Given the description of an element on the screen output the (x, y) to click on. 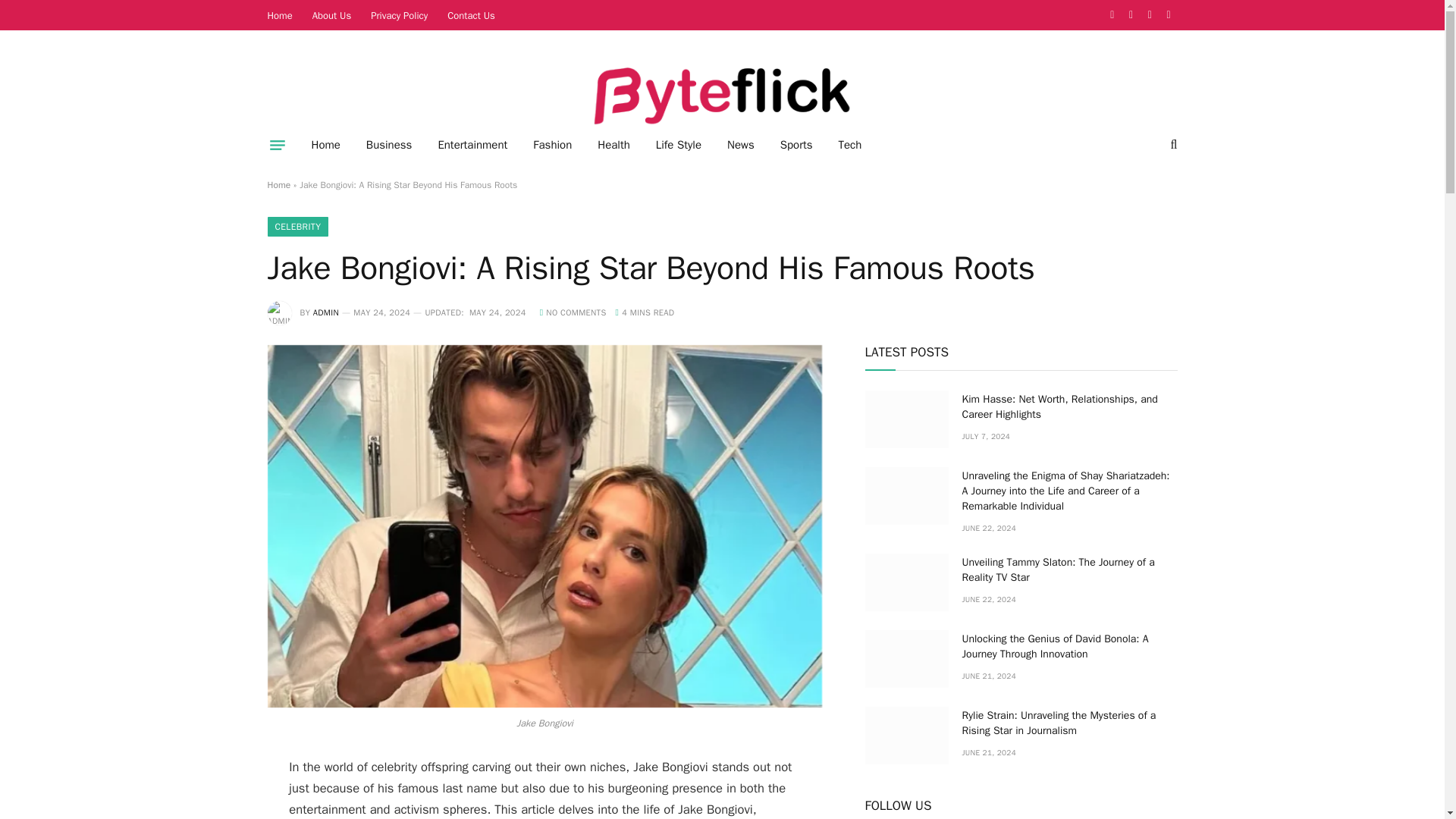
CELEBRITY (297, 226)
Privacy Policy (399, 15)
Posts by admin (326, 312)
Instagram (1149, 15)
Entertainment (472, 144)
About Us (331, 15)
Home (277, 184)
Sports (796, 144)
Search (1172, 144)
Facebook (1112, 15)
Home (279, 15)
ADMIN (326, 312)
News (740, 144)
Tech (850, 144)
Fashion (552, 144)
